Given the description of an element on the screen output the (x, y) to click on. 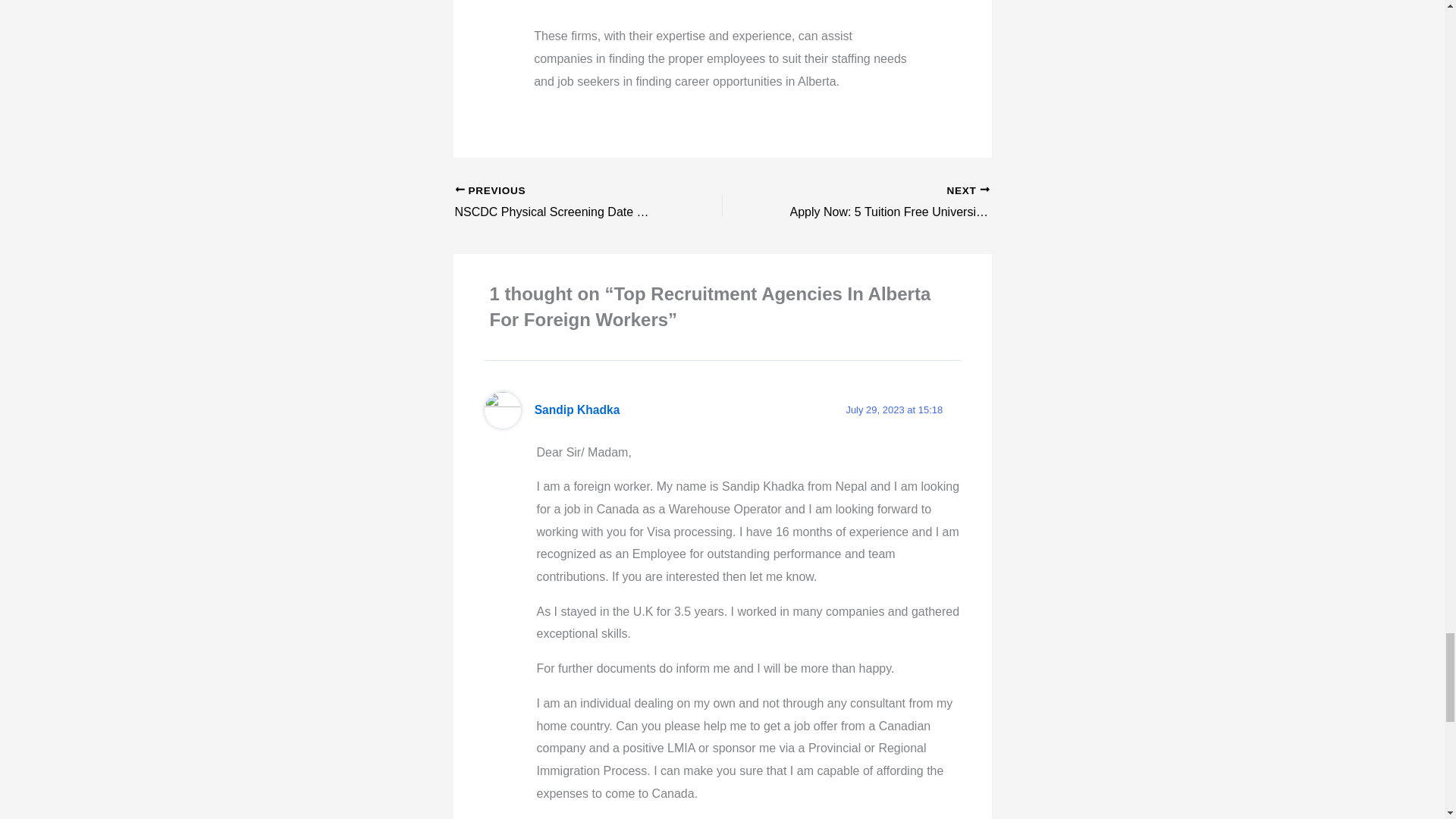
NSCDC Physical Screening Date For 2023 Recruitment (561, 202)
July 29, 2023 at 15:18 (561, 202)
Apply Now: 5 Tuition Free Universities In Canada (893, 409)
